Given the description of an element on the screen output the (x, y) to click on. 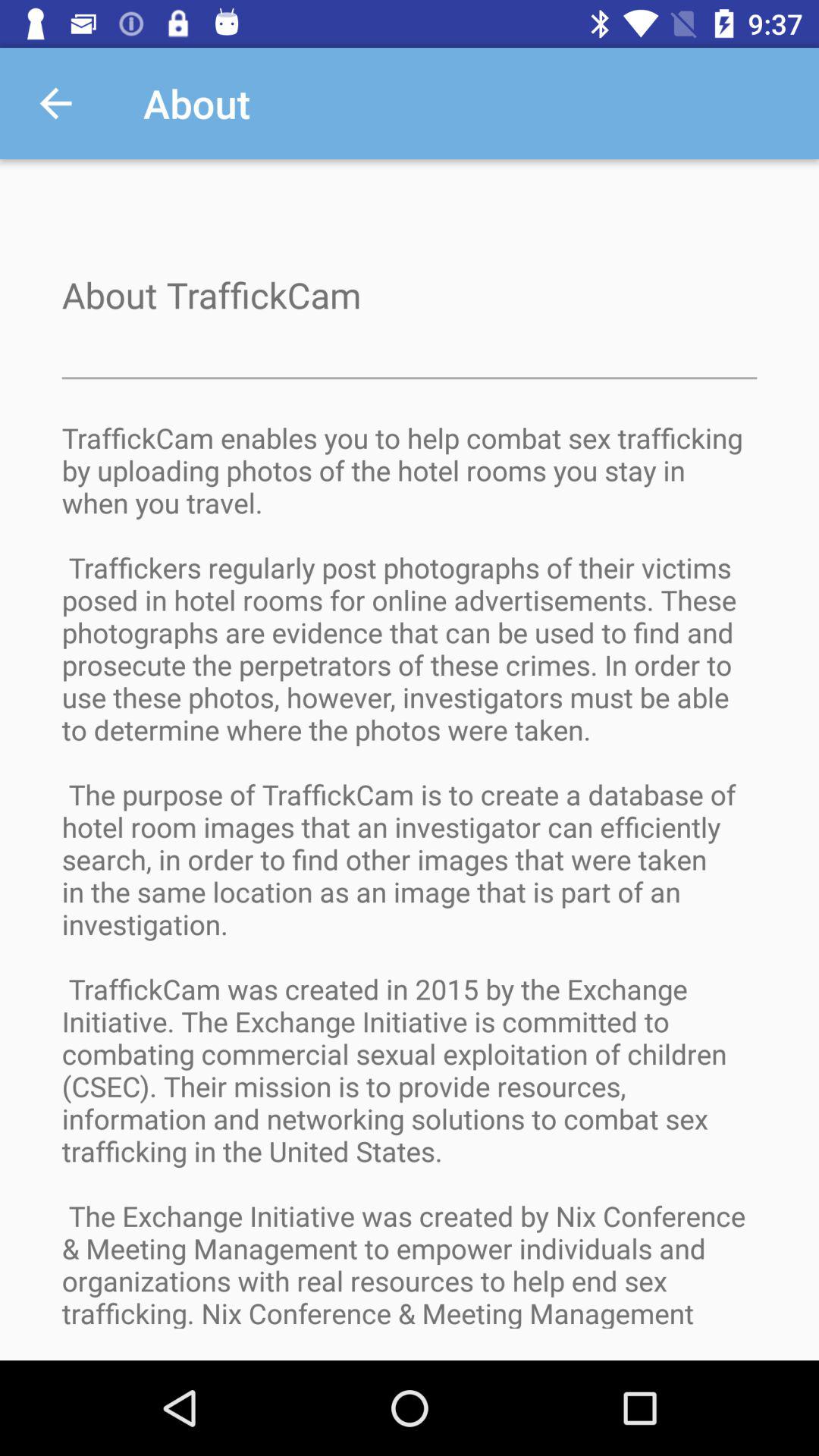
launch traffickcam enables you (409, 889)
